Given the description of an element on the screen output the (x, y) to click on. 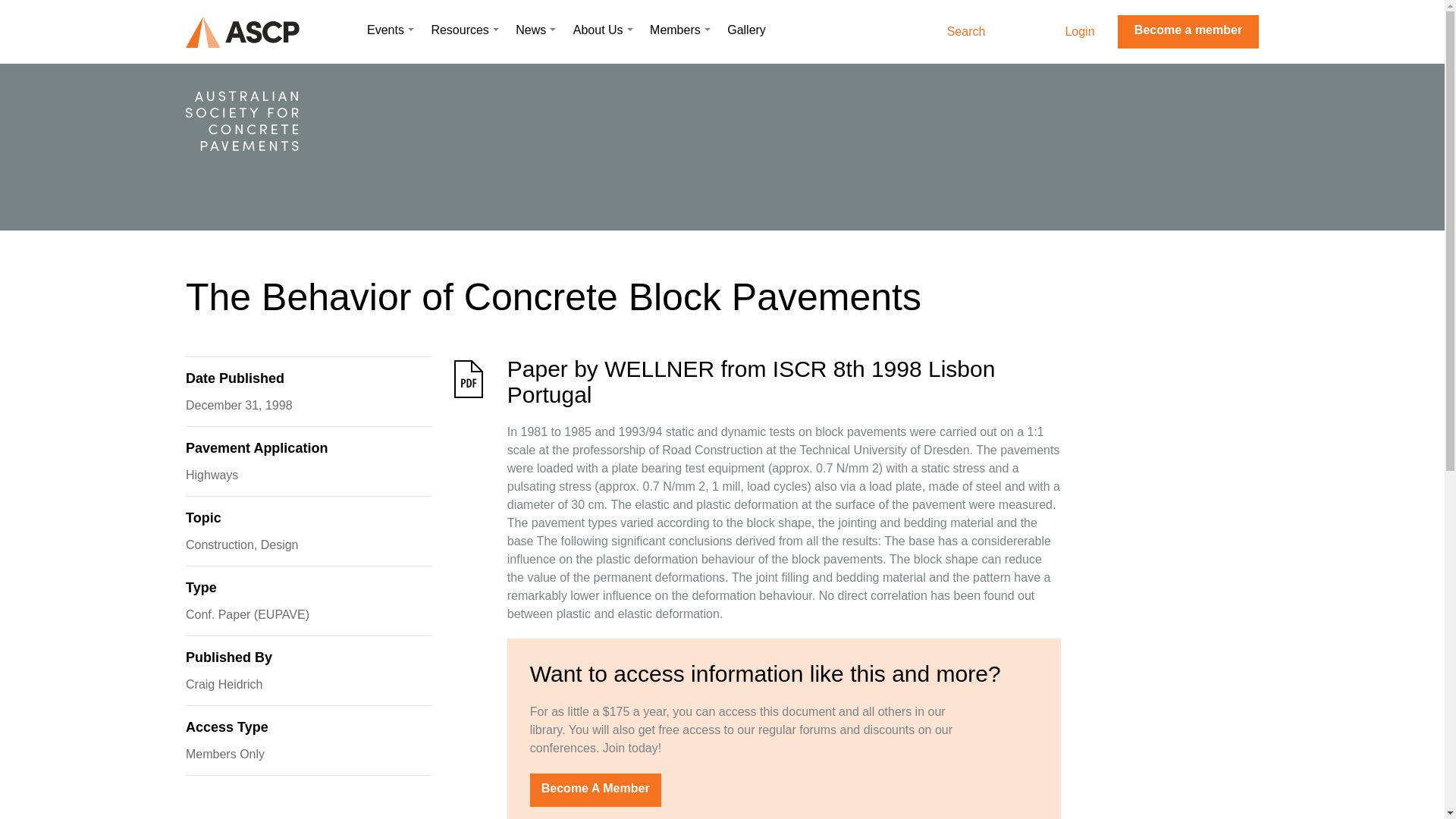
About Us (603, 29)
Become a member (1188, 31)
Events (389, 29)
Search (978, 31)
News (535, 29)
Login (1079, 31)
Resources (463, 29)
Members (679, 29)
Become A Member (595, 789)
Gallery (745, 29)
